Given the description of an element on the screen output the (x, y) to click on. 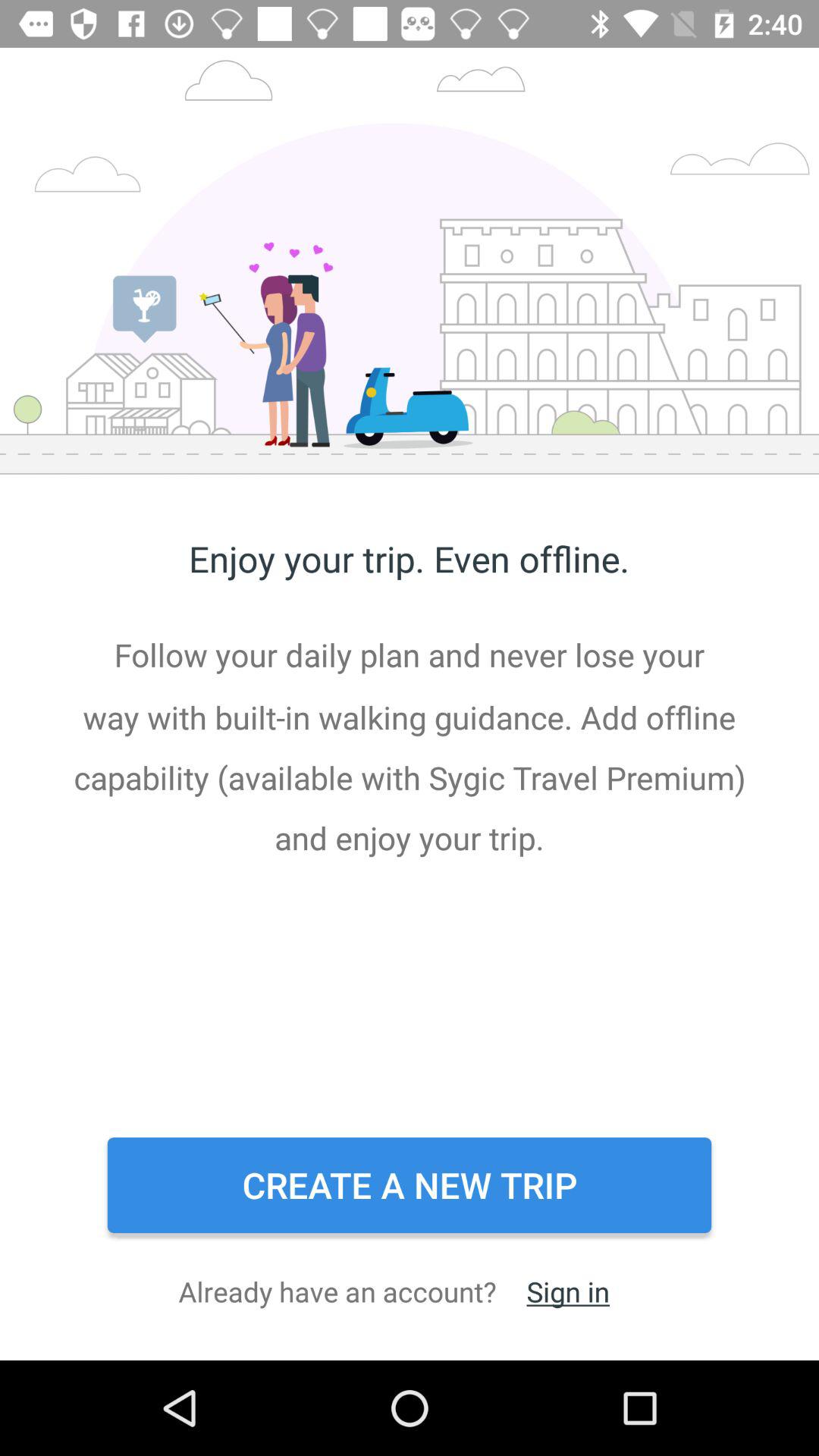
launch the icon below the follow your daily item (409, 1185)
